Given the description of an element on the screen output the (x, y) to click on. 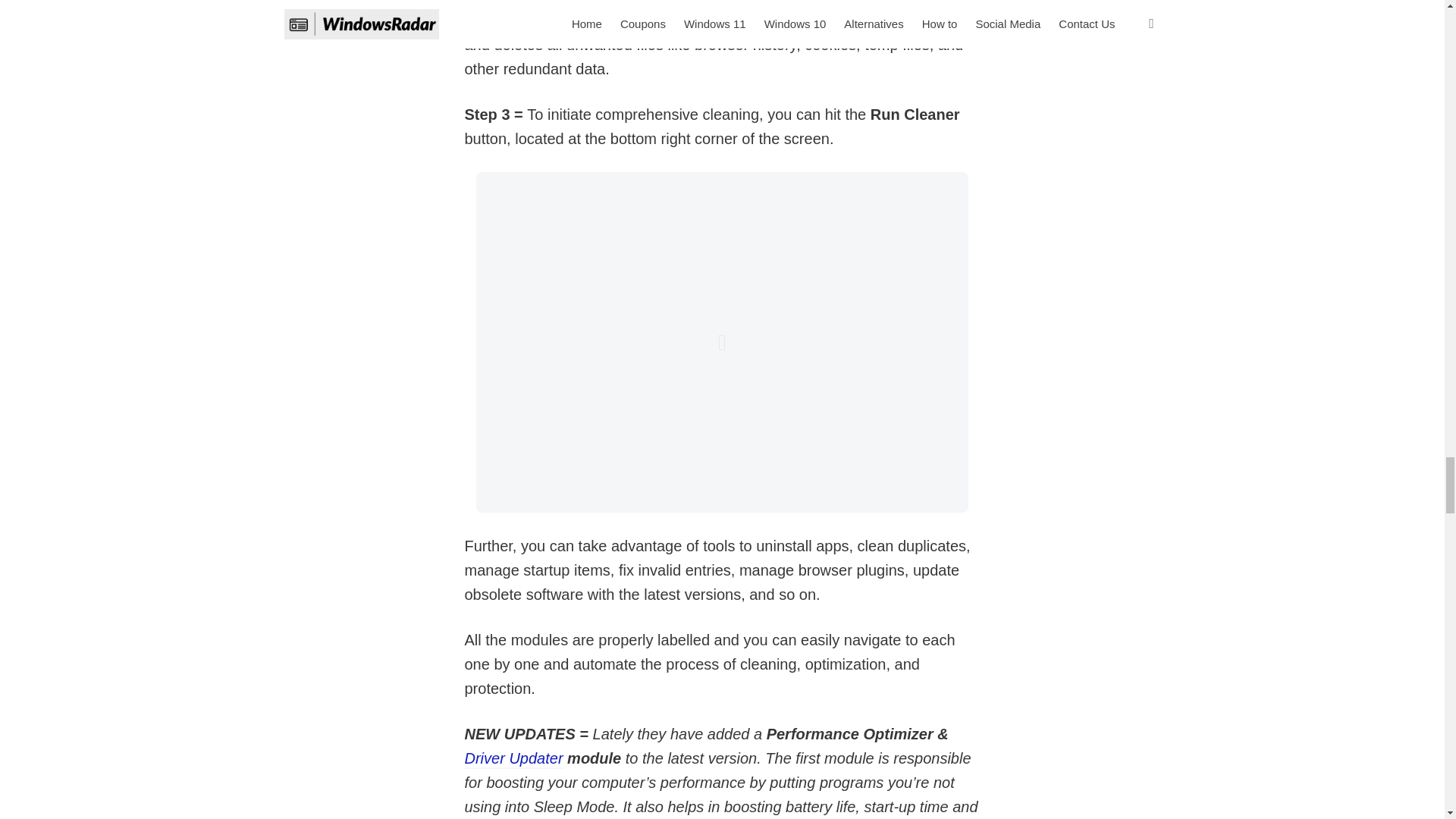
tools to uninstall apps (775, 545)
Driver Updater (513, 759)
